Given the description of an element on the screen output the (x, y) to click on. 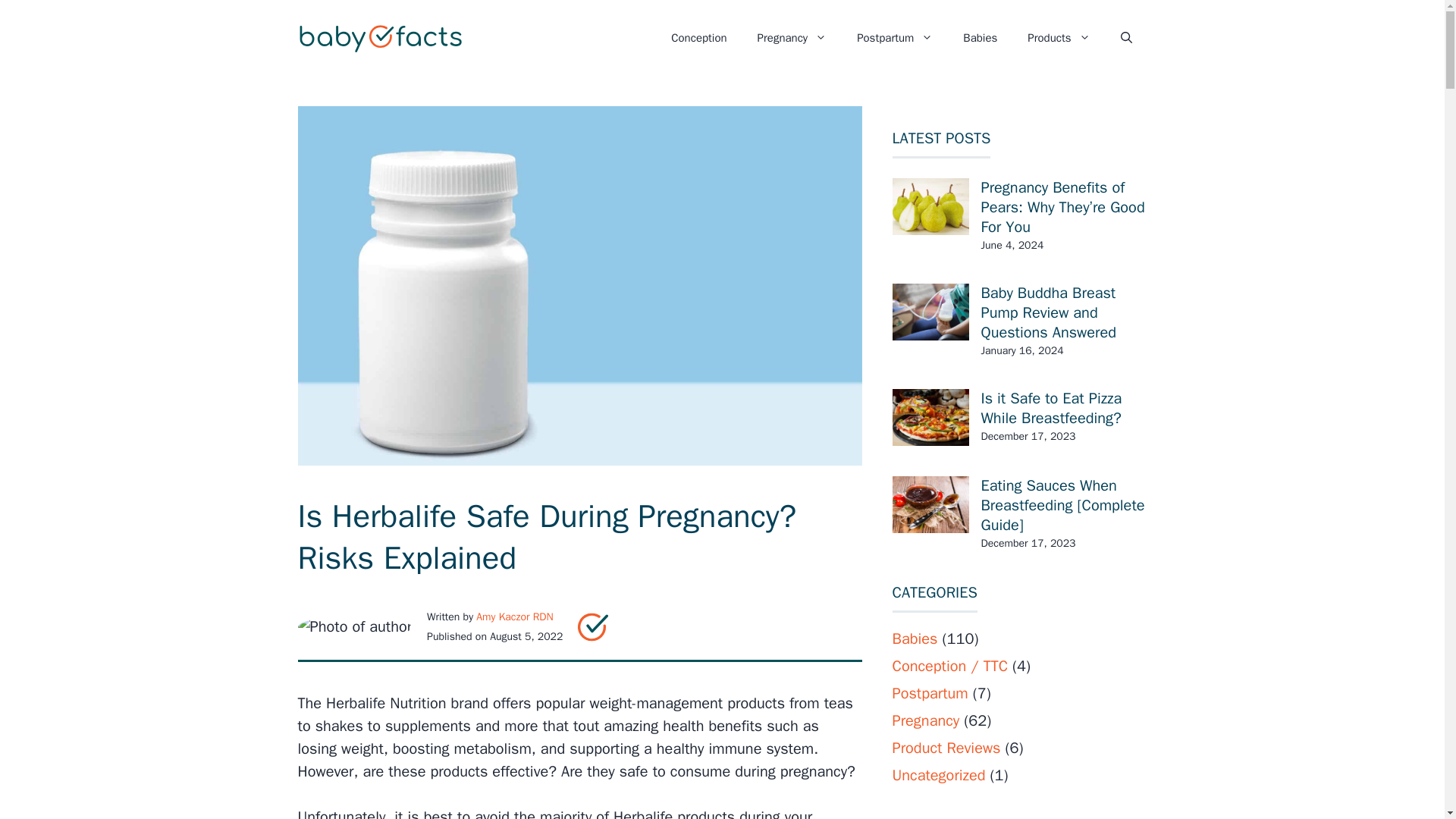
Postpartum (894, 37)
Pregnancy (792, 37)
Products (1058, 37)
Amy Kaczor RDN (514, 616)
BabyFacts logo (593, 626)
Conception (698, 37)
Babies (979, 37)
